Given the description of an element on the screen output the (x, y) to click on. 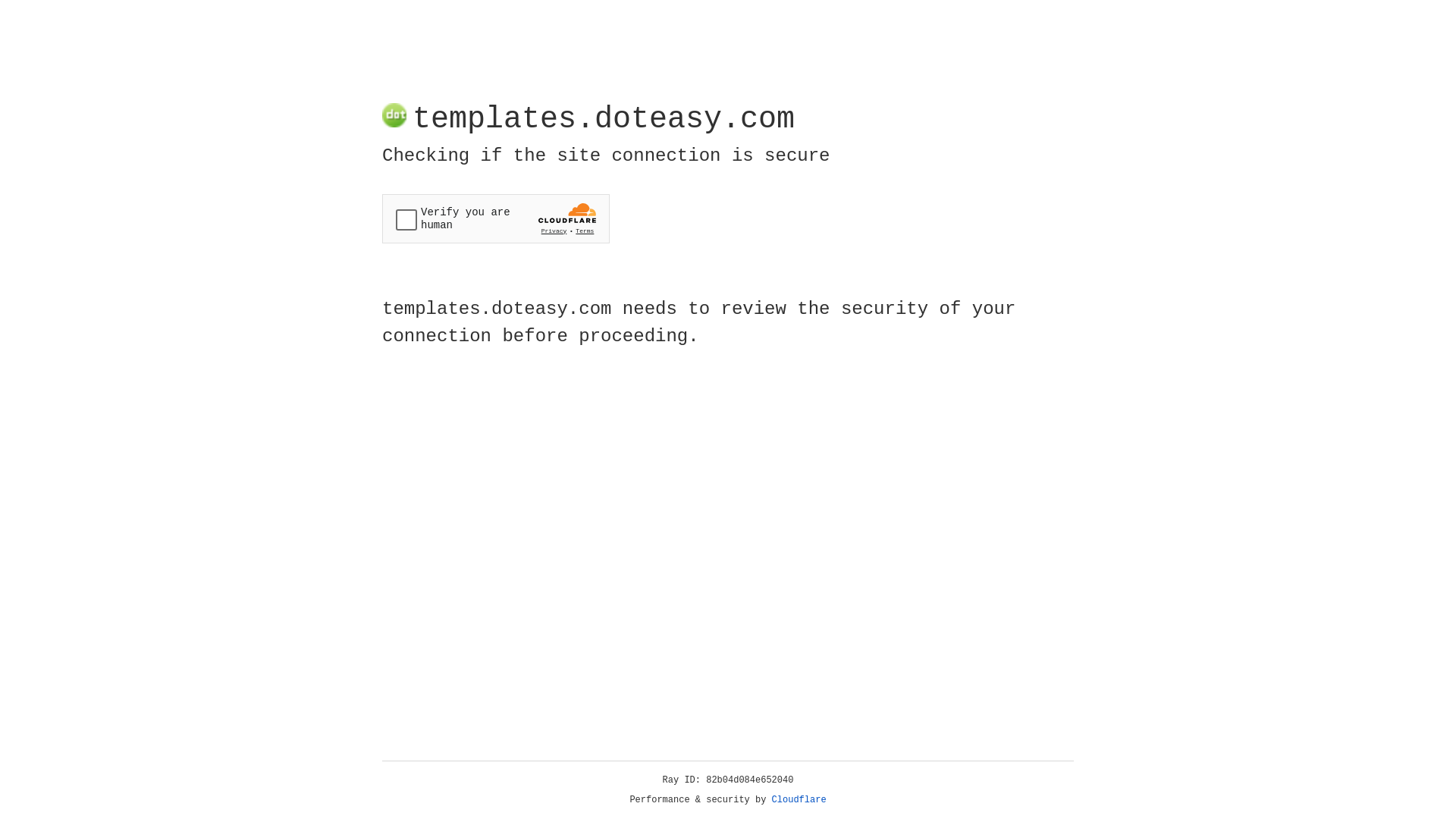
Cloudflare Element type: text (798, 799)
Widget containing a Cloudflare security challenge Element type: hover (495, 218)
